Given the description of an element on the screen output the (x, y) to click on. 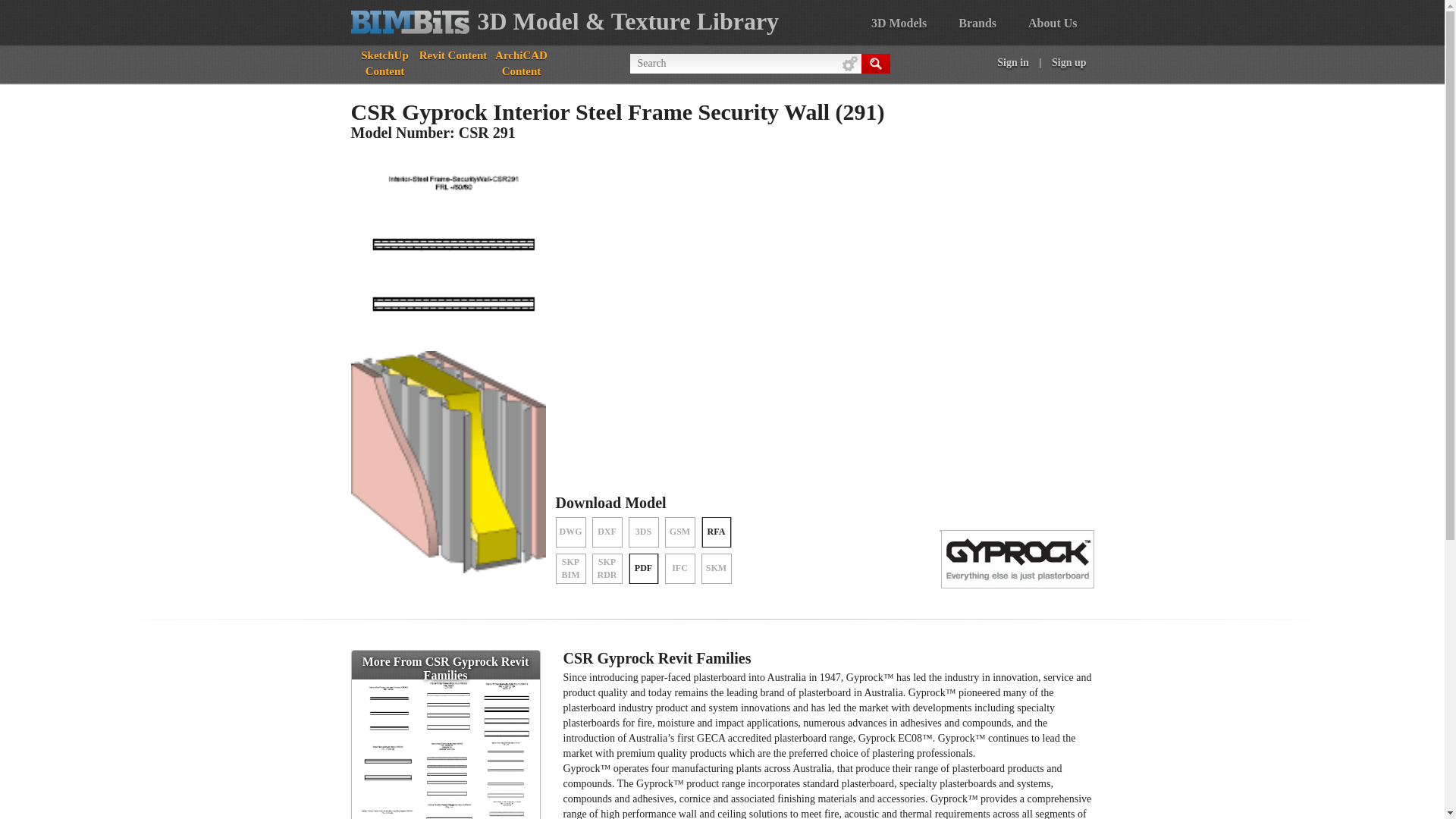
RFA (715, 531)
Sign in (1013, 63)
Sign up (1068, 63)
ArchiCAD Content (520, 63)
3D Models (899, 23)
SketchUp Content (384, 63)
About Us (1052, 23)
PDF (643, 568)
Brands (977, 23)
Revit Content (452, 55)
